Given the description of an element on the screen output the (x, y) to click on. 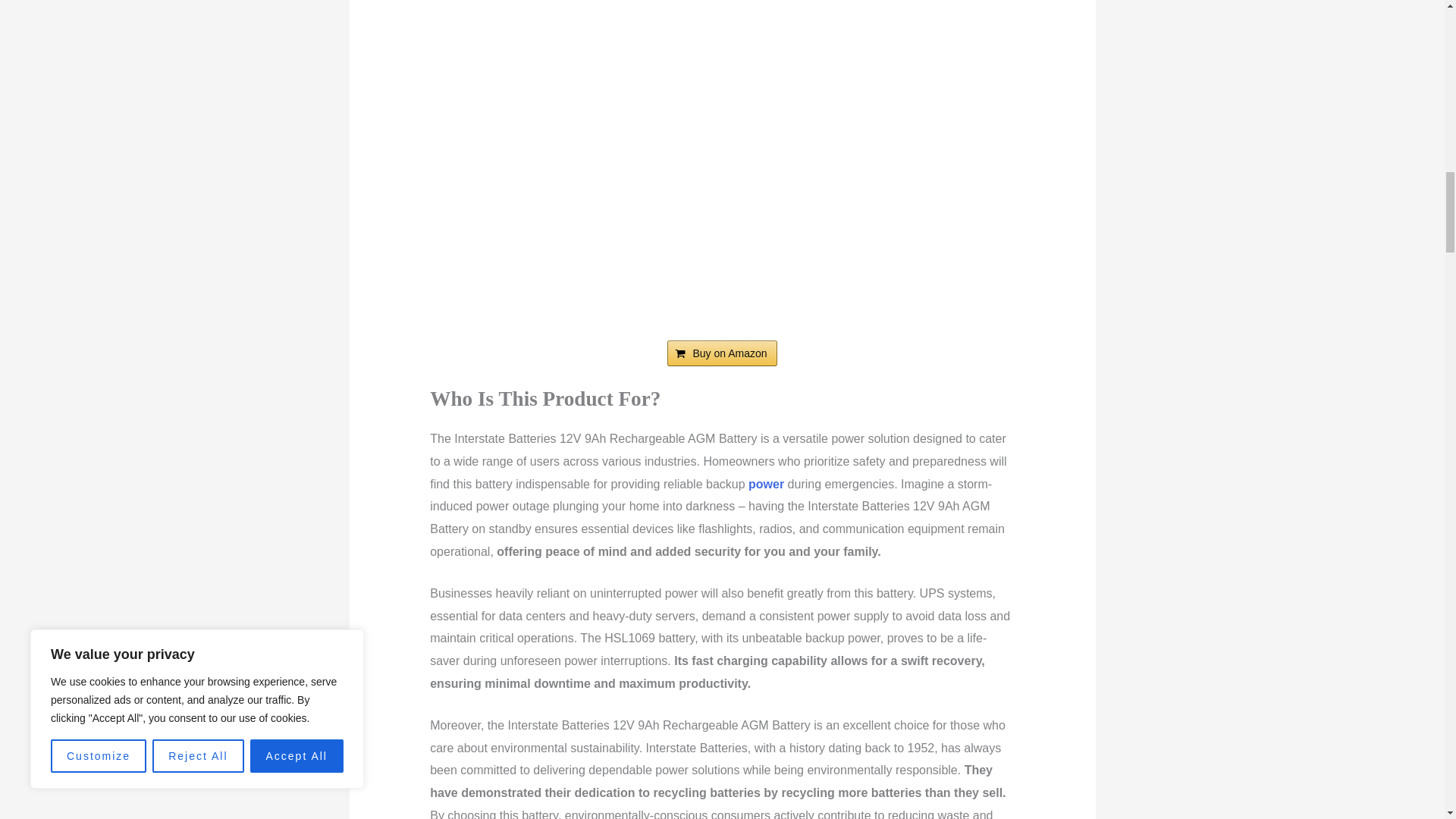
Buy on Amazon (721, 353)
